Given the description of an element on the screen output the (x, y) to click on. 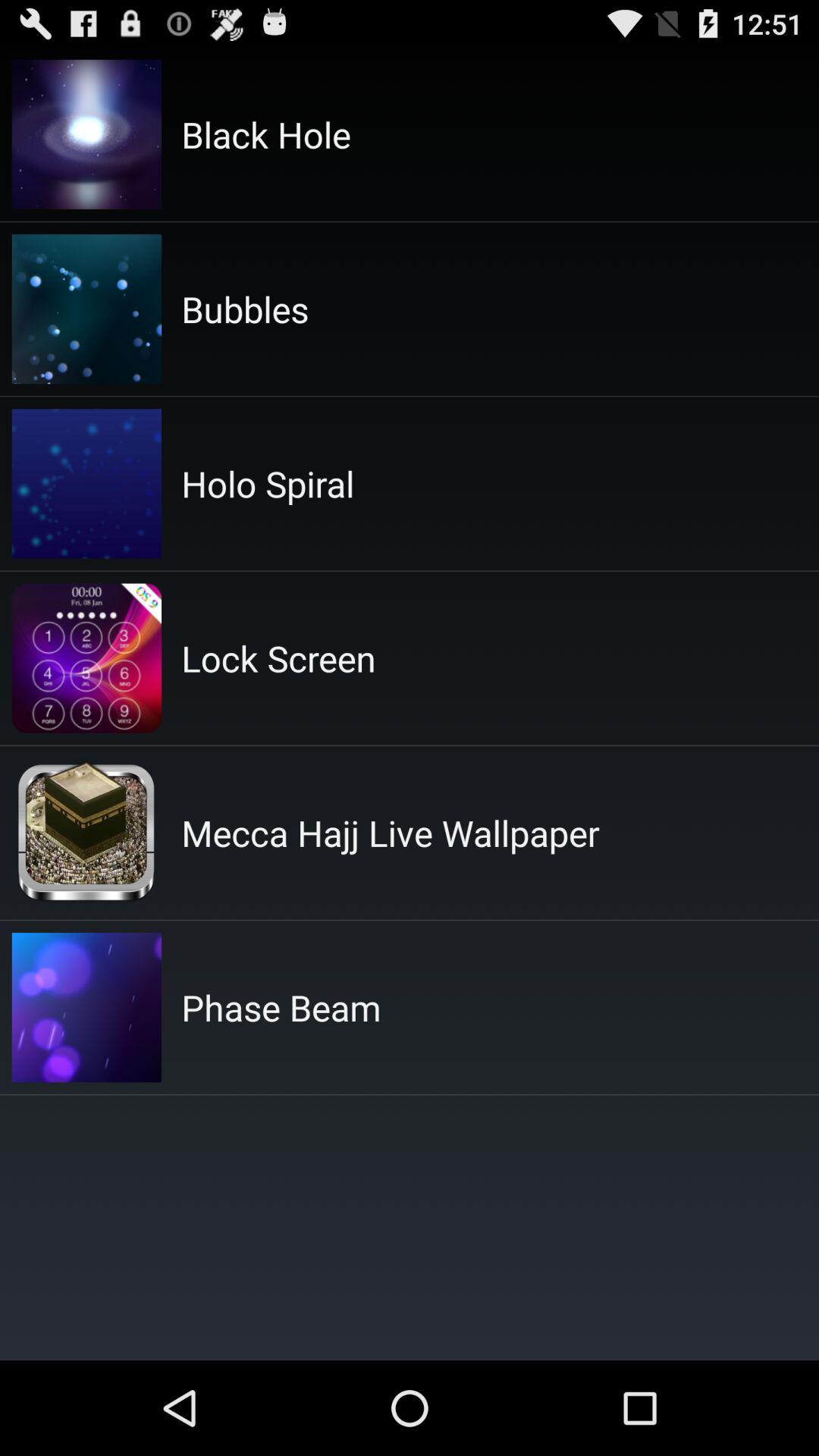
tap the holo spiral icon (267, 483)
